Given the description of an element on the screen output the (x, y) to click on. 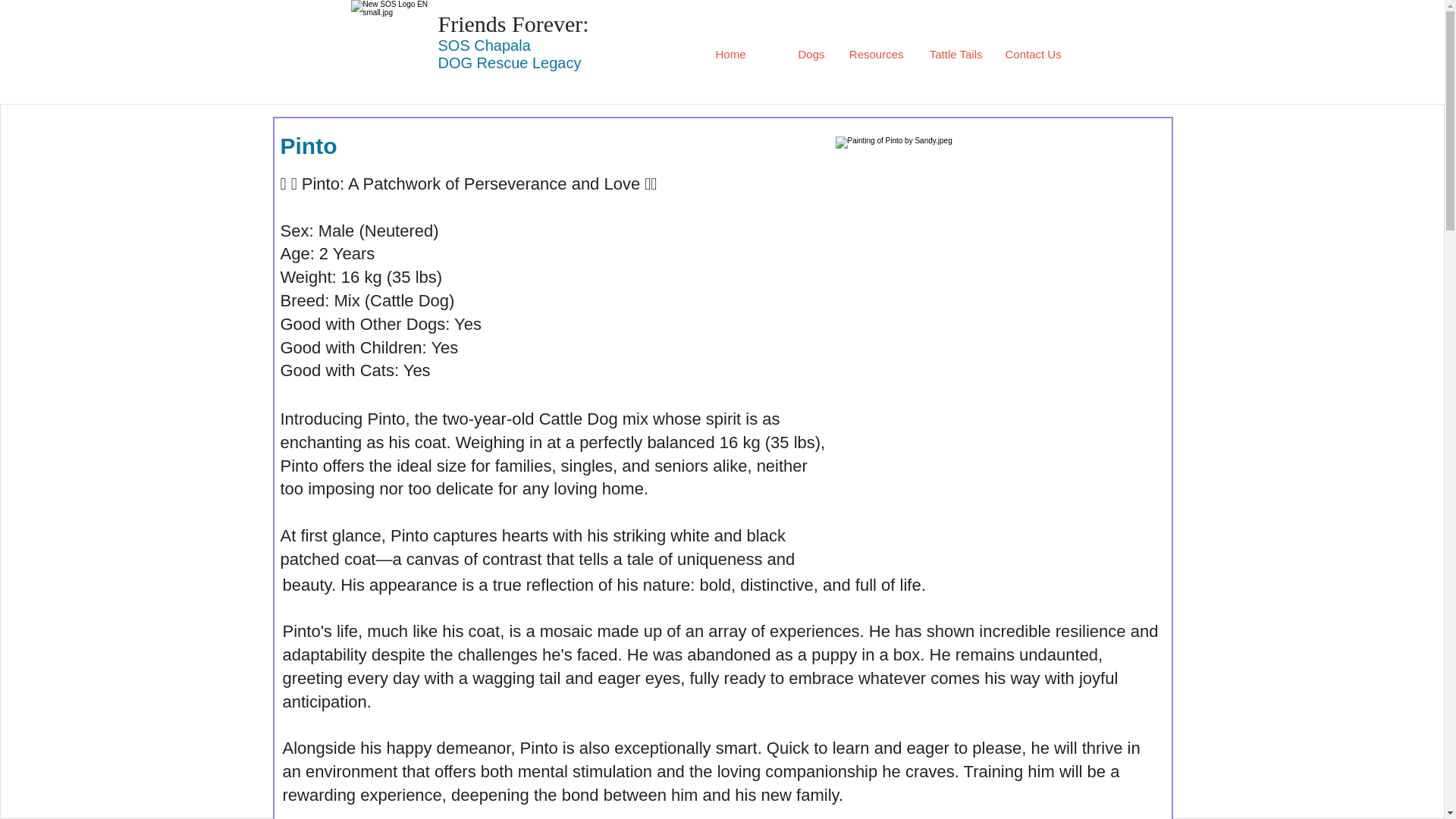
Contact Us (1031, 54)
Tattle Tails (953, 54)
Dogs (796, 54)
Resources (874, 54)
Home (717, 54)
